Given the description of an element on the screen output the (x, y) to click on. 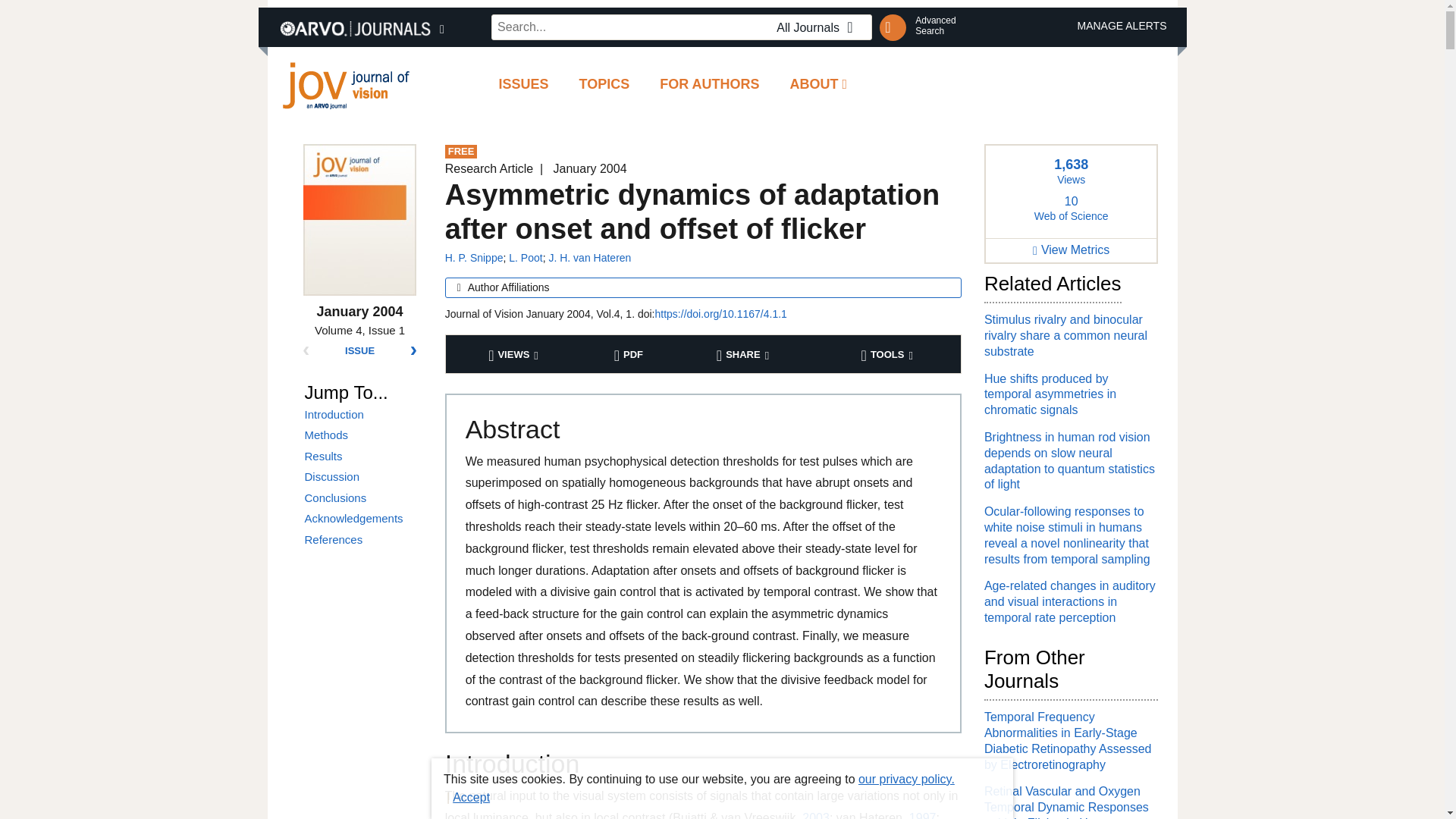
References (362, 539)
ABOUT (818, 84)
ISSUES (523, 84)
Conclusions (935, 25)
L. Poot (362, 498)
References (524, 257)
Introduction (362, 539)
Acknowledgements (362, 414)
TOPICS (362, 518)
Conclusions (604, 84)
Methods (362, 498)
Discussion (362, 435)
Results (362, 476)
Introduction (362, 456)
